Given the description of an element on the screen output the (x, y) to click on. 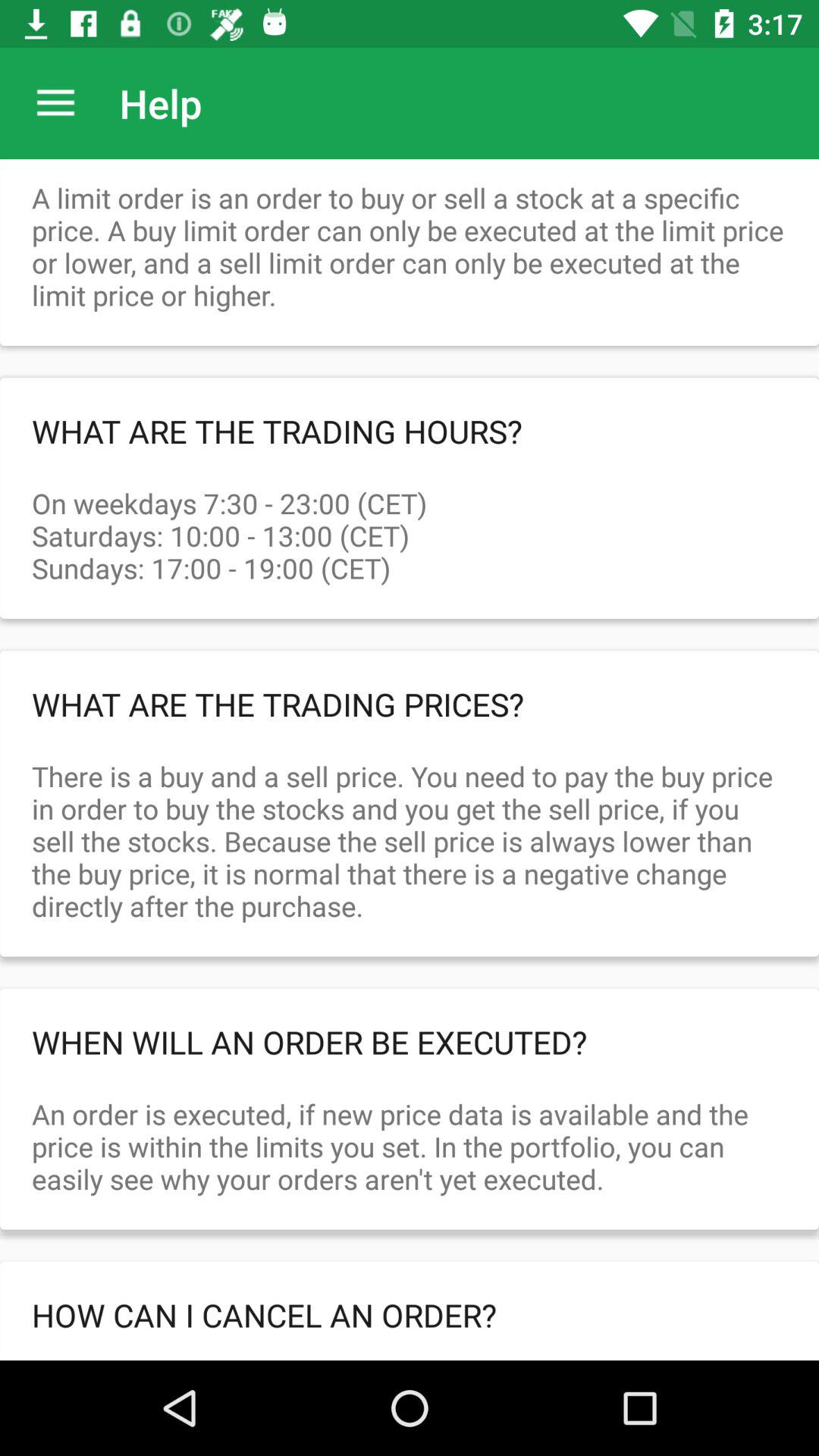
open the on weekdays 7 (409, 519)
